Given the description of an element on the screen output the (x, y) to click on. 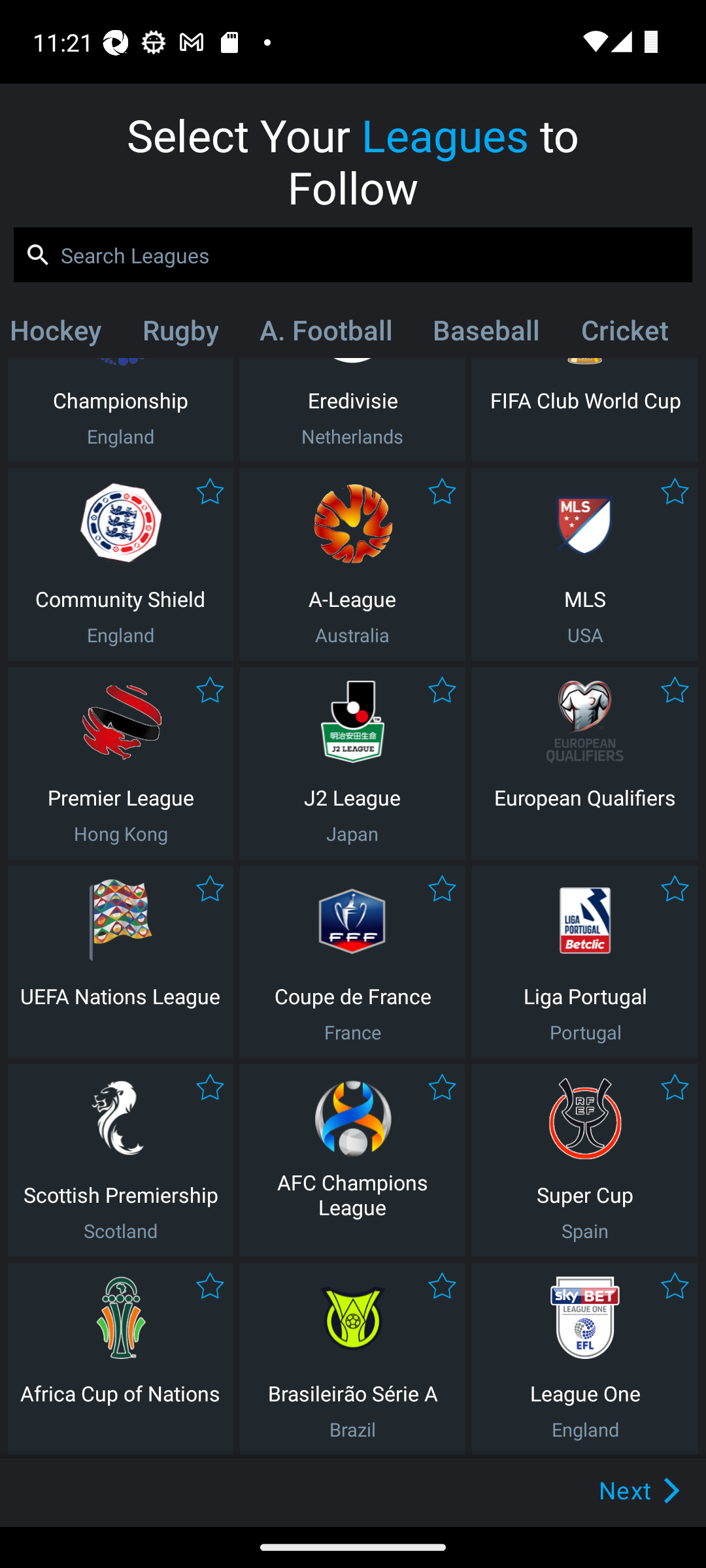
Search Leagues (352, 254)
Hockey (62, 333)
Rugby (179, 333)
A. Football (325, 333)
Baseball (486, 333)
Cricket (624, 333)
Community Shield England (120, 564)
A-League Australia (352, 564)
MLS USA (585, 564)
Premier League Hong Kong (120, 762)
J2 League Japan (352, 762)
European Qualifiers (585, 762)
UEFA Nations League (120, 961)
Coupe de France France (352, 961)
Liga Portugal Portugal (585, 961)
Scottish Premiership Scotland (120, 1159)
AFC Champions League (352, 1159)
Super Cup Spain (585, 1159)
Africa Cup of Nations (120, 1358)
Brasileirão Série A Brazil (352, 1358)
League One England (585, 1358)
Next (609, 1489)
